Given the description of an element on the screen output the (x, y) to click on. 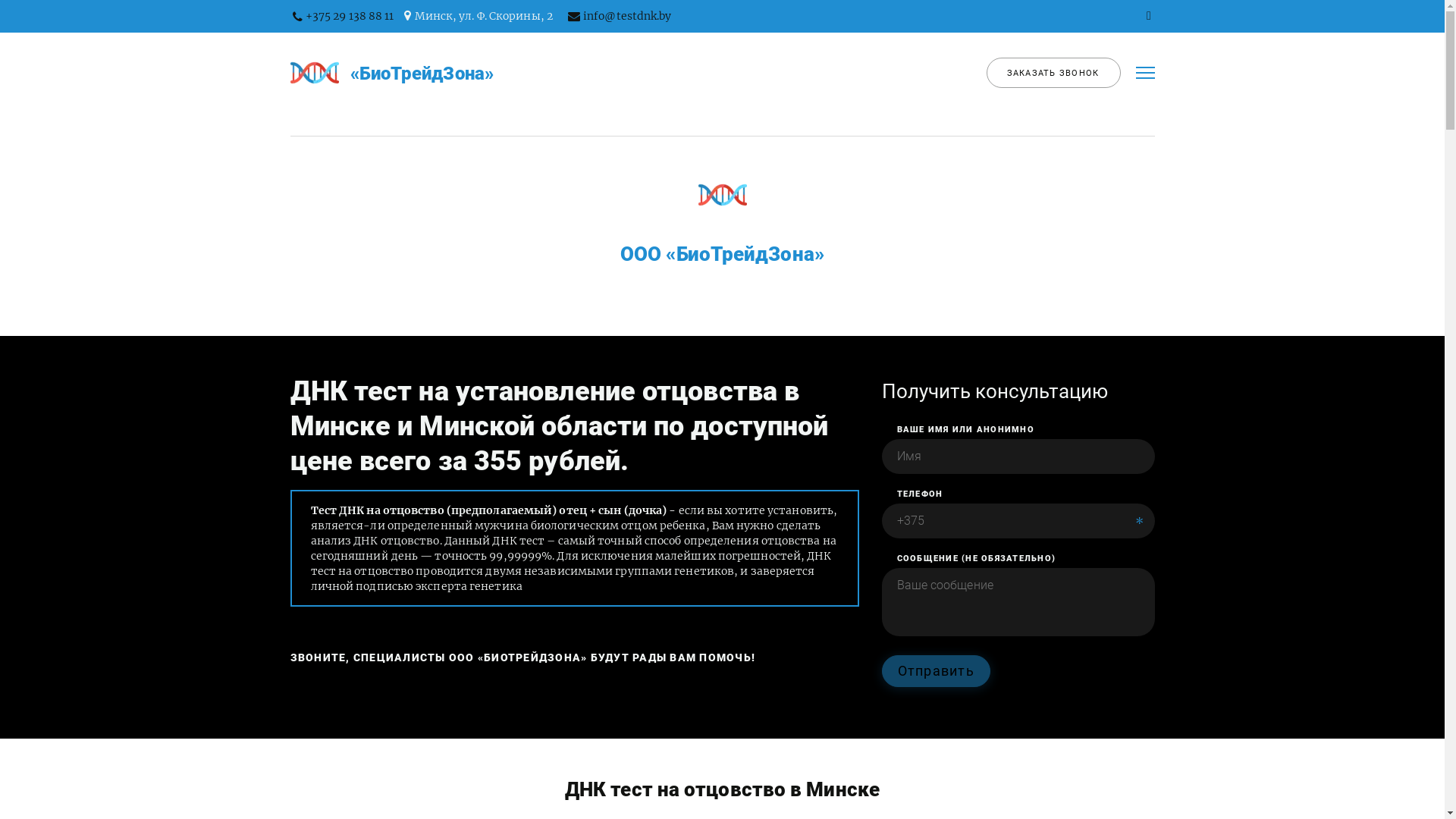
info@testdnk.by Element type: text (627, 15)
+375 29 138 88 11 Element type: text (349, 15)
